Given the description of an element on the screen output the (x, y) to click on. 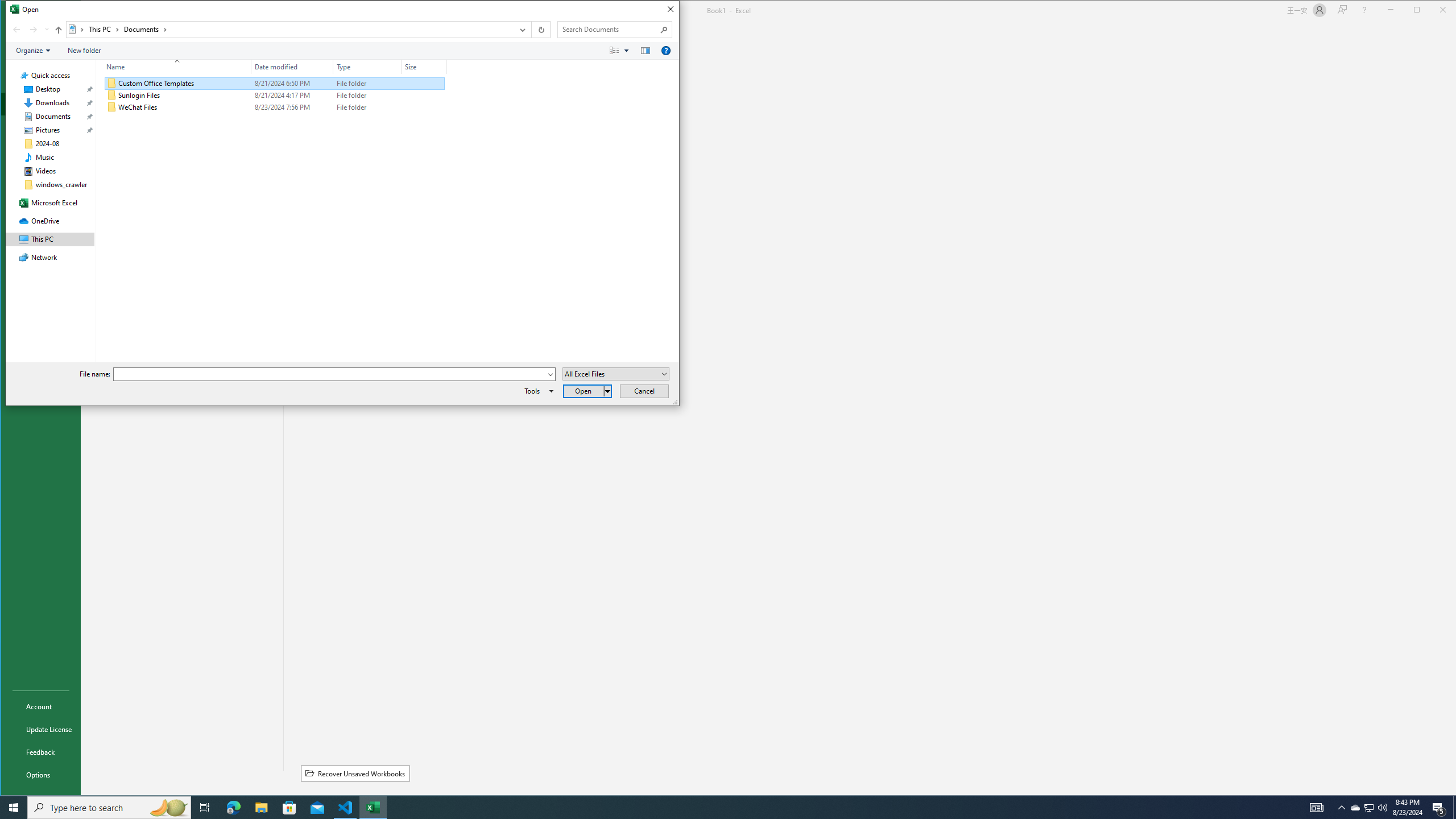
Microsoft Store (289, 807)
Forward (Alt + Right Arrow) (33, 29)
Address band toolbar (531, 29)
Organize (1368, 807)
Name (33, 50)
Action Center, 5 new notifications (173, 66)
Tools (1355, 807)
Recent locations (1439, 807)
Cancel (537, 390)
Q2790: 100% (46, 29)
Back (Alt + Left Arrow) (643, 391)
